Given the description of an element on the screen output the (x, y) to click on. 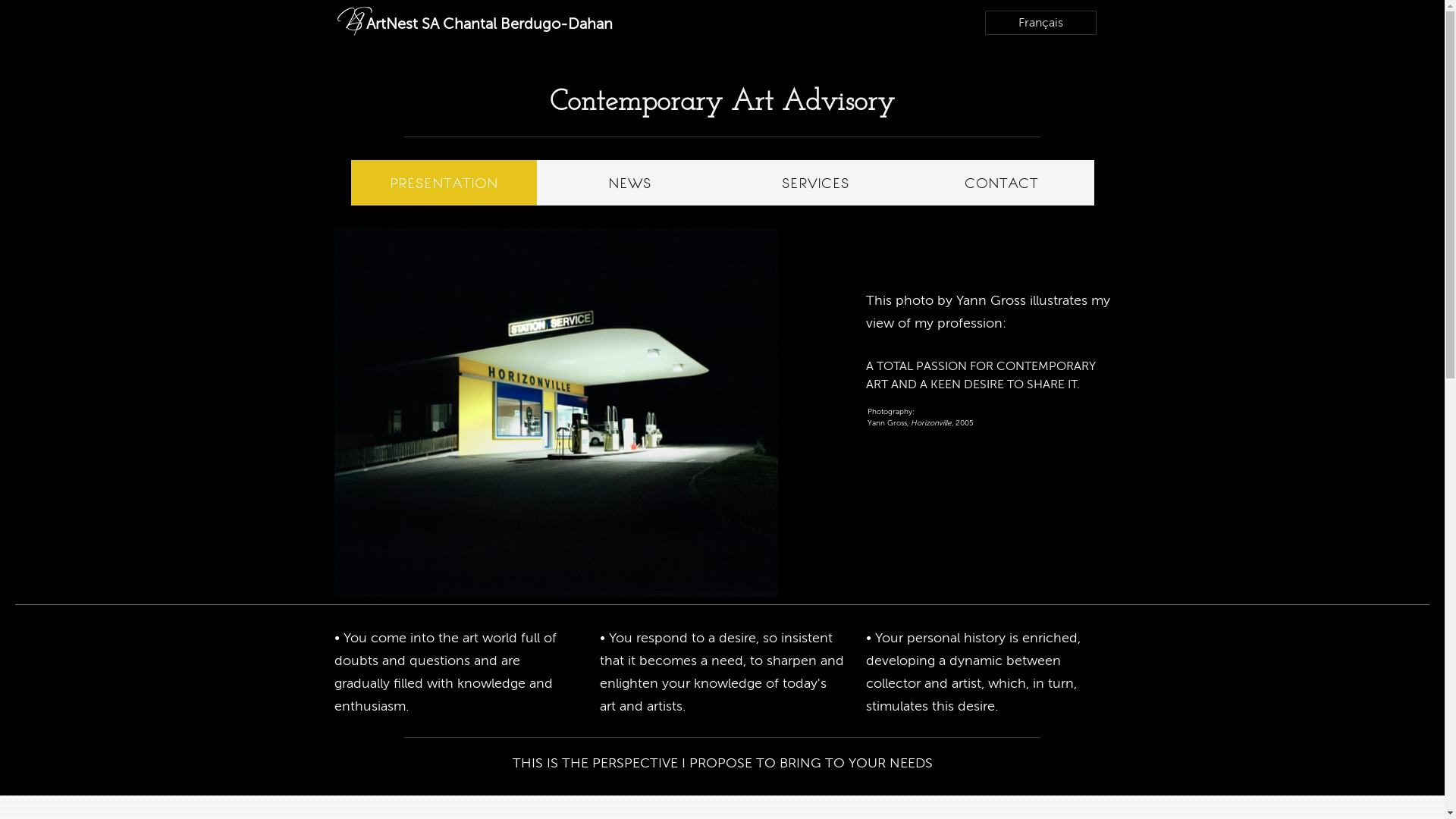
CONTACT Element type: text (1001, 182)
SERVICES Element type: text (814, 182)
PRESENTATION Element type: text (443, 182)
ArtNest SA Chantal Berdugo-Dahan Element type: text (478, 34)
NEWS Element type: text (629, 182)
